Given the description of an element on the screen output the (x, y) to click on. 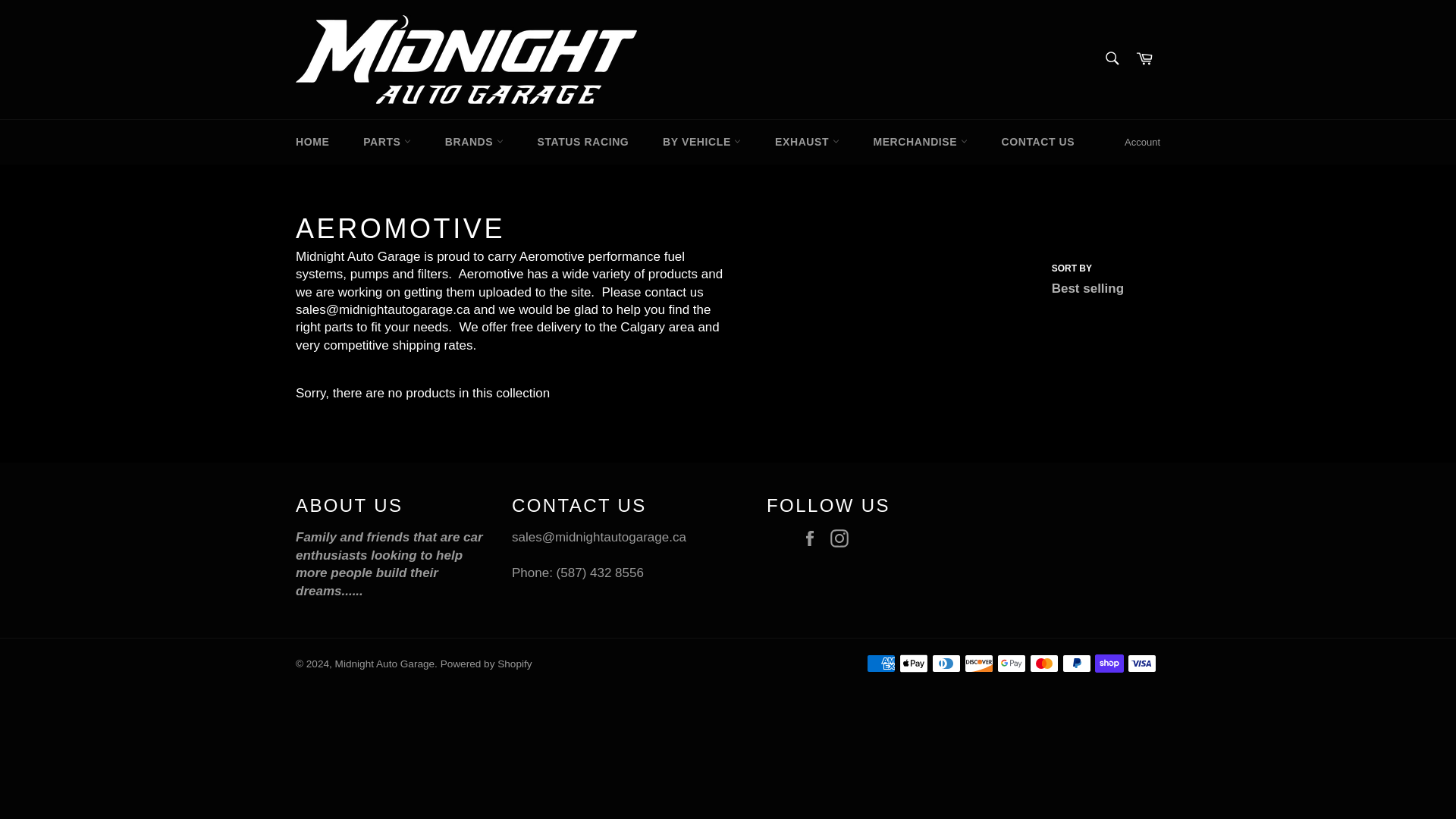
Midnight Auto Garage on Facebook (813, 537)
Midnight Auto Garage on Instagram (842, 537)
About Us (389, 563)
